Given the description of an element on the screen output the (x, y) to click on. 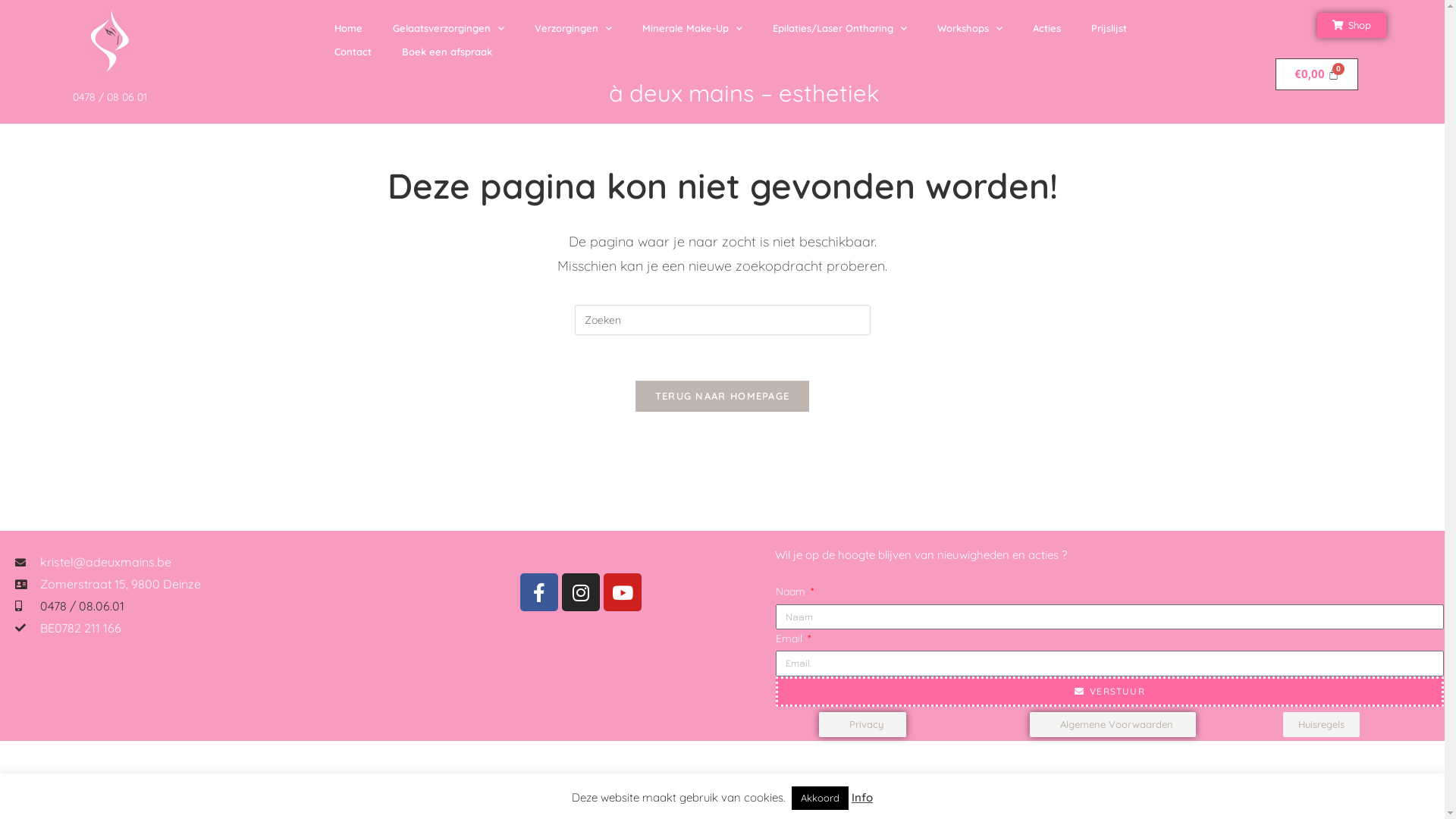
Badge logo 70 Element type: hover (109, 41)
Prijslijst Element type: text (1109, 28)
Verzorgingen Element type: text (573, 28)
Workshops Element type: text (969, 28)
Contact Element type: text (352, 51)
Huisregels Element type: text (1321, 724)
Minerale Make-Up Element type: text (692, 28)
Epilaties/Laser Ontharing Element type: text (839, 28)
Privacy Element type: text (862, 724)
TERUG NAAR HOMEPAGE Element type: text (722, 395)
Home Element type: text (348, 28)
Acties Element type: text (1046, 28)
Shop Element type: text (1351, 24)
Info Element type: text (861, 797)
0478 / 08.06.01 Element type: text (81, 605)
Boek een afspraak Element type: text (446, 51)
Akkoord Element type: text (819, 797)
VERSTUUR Element type: text (1109, 691)
Algemene Voorwaarden Element type: text (1112, 724)
Gelaatsverzorgingen Element type: text (448, 28)
